Given the description of an element on the screen output the (x, y) to click on. 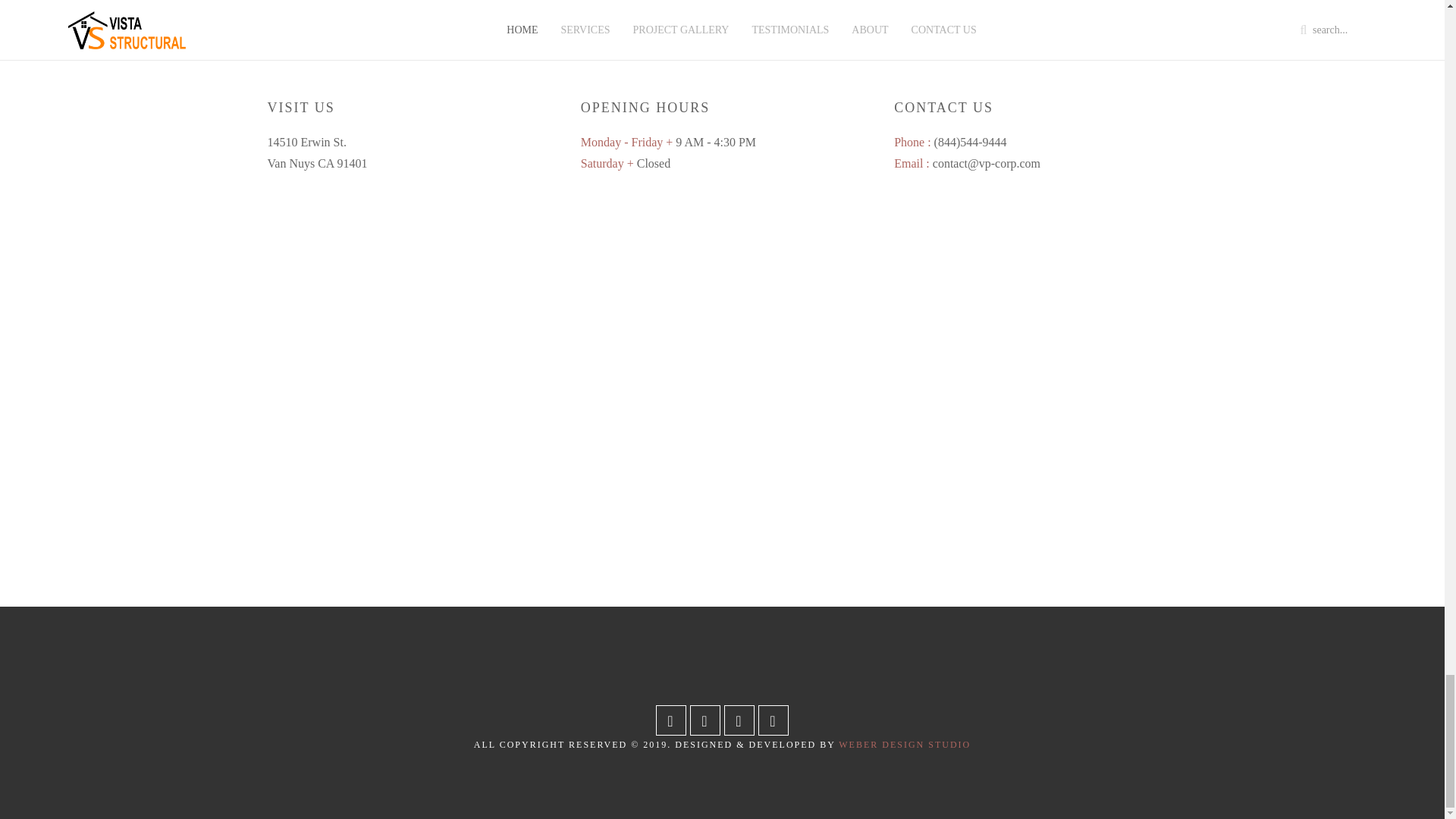
WEBER DESIGN STUDIO (904, 744)
